Given the description of an element on the screen output the (x, y) to click on. 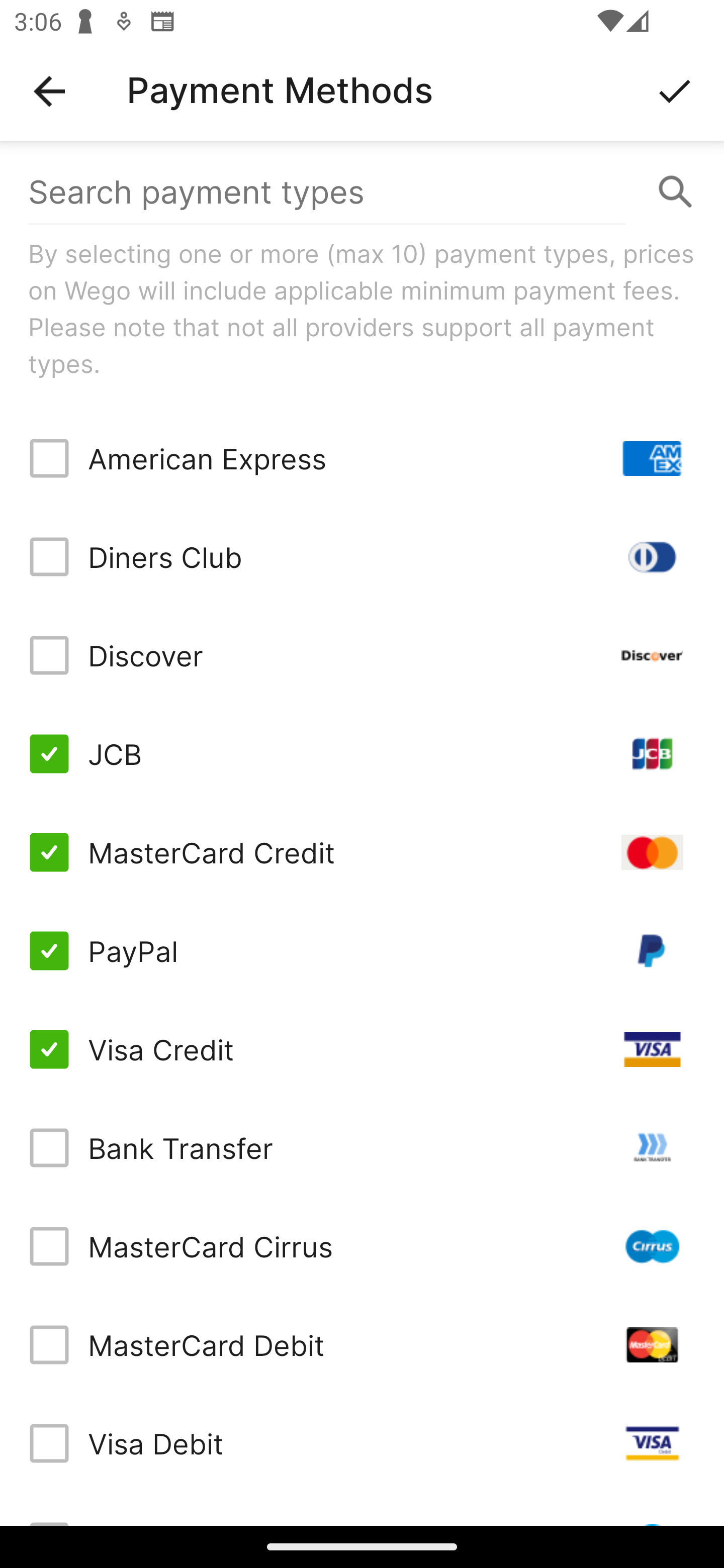
Search payment types  (361, 191)
American Express (362, 458)
Diners Club (362, 557)
Discover (362, 655)
JCB (362, 753)
MasterCard Credit (362, 851)
PayPal (362, 950)
Visa Credit (362, 1049)
Bank Transfer (362, 1147)
MasterCard Cirrus (362, 1245)
MasterCard Debit (362, 1344)
Visa Debit (362, 1442)
